Given the description of an element on the screen output the (x, y) to click on. 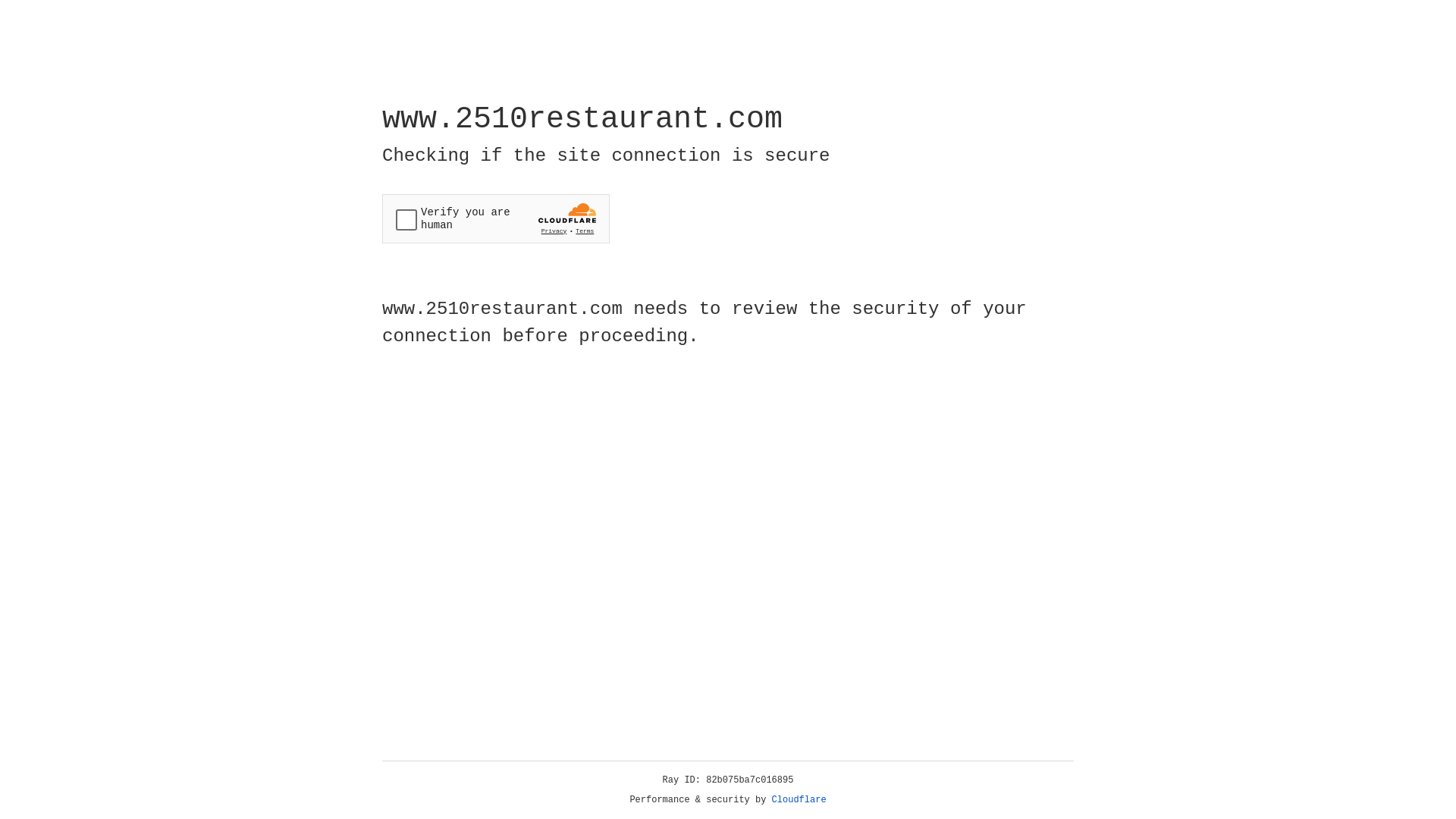
Cloudflare Element type: text (798, 799)
Widget containing a Cloudflare security challenge Element type: hover (495, 218)
